Given the description of an element on the screen output the (x, y) to click on. 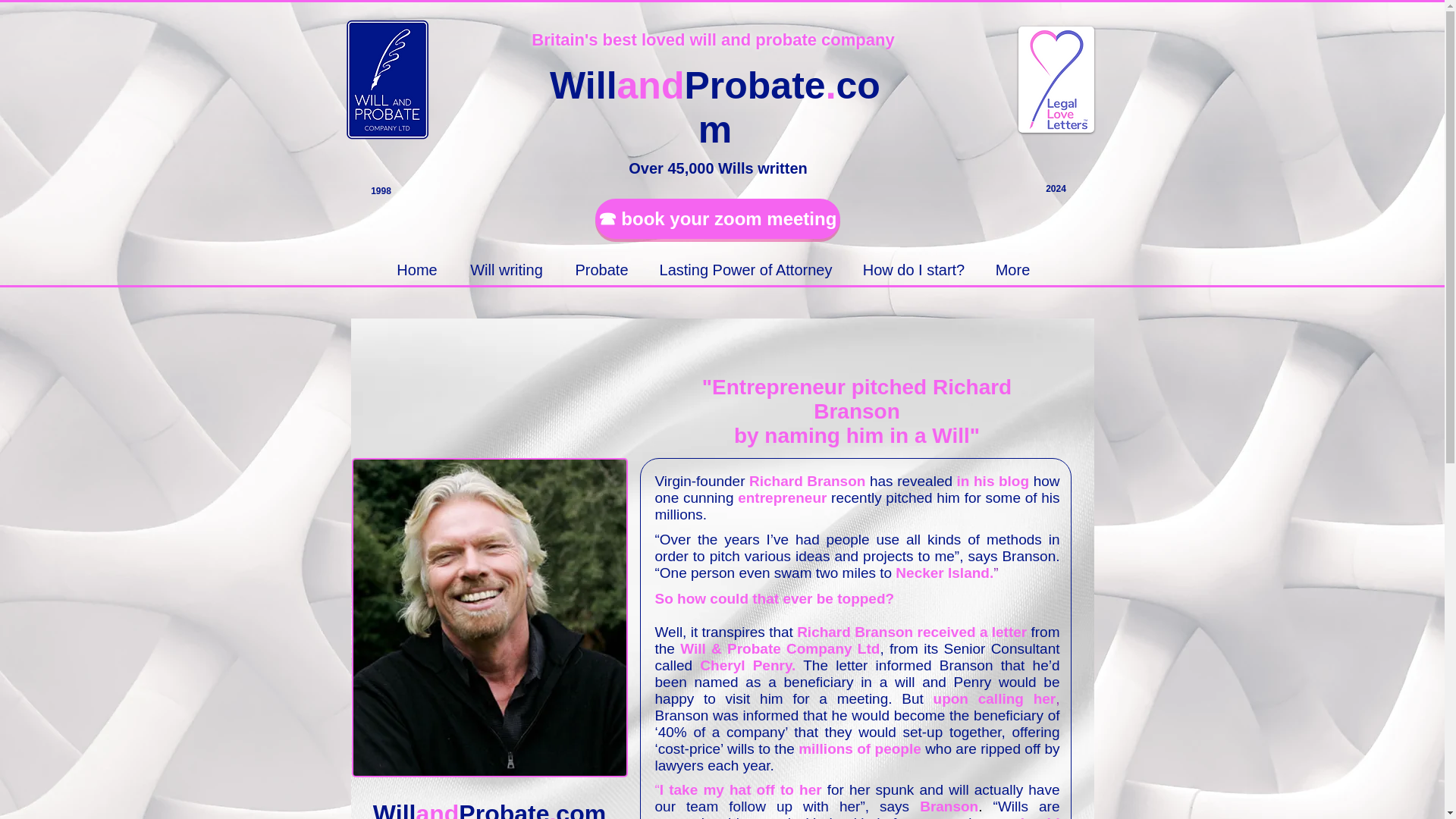
Probate (601, 270)
Will writing (506, 270)
Home (416, 270)
How do I start? (912, 270)
Lasting Power of Attorney (745, 270)
